Given the description of an element on the screen output the (x, y) to click on. 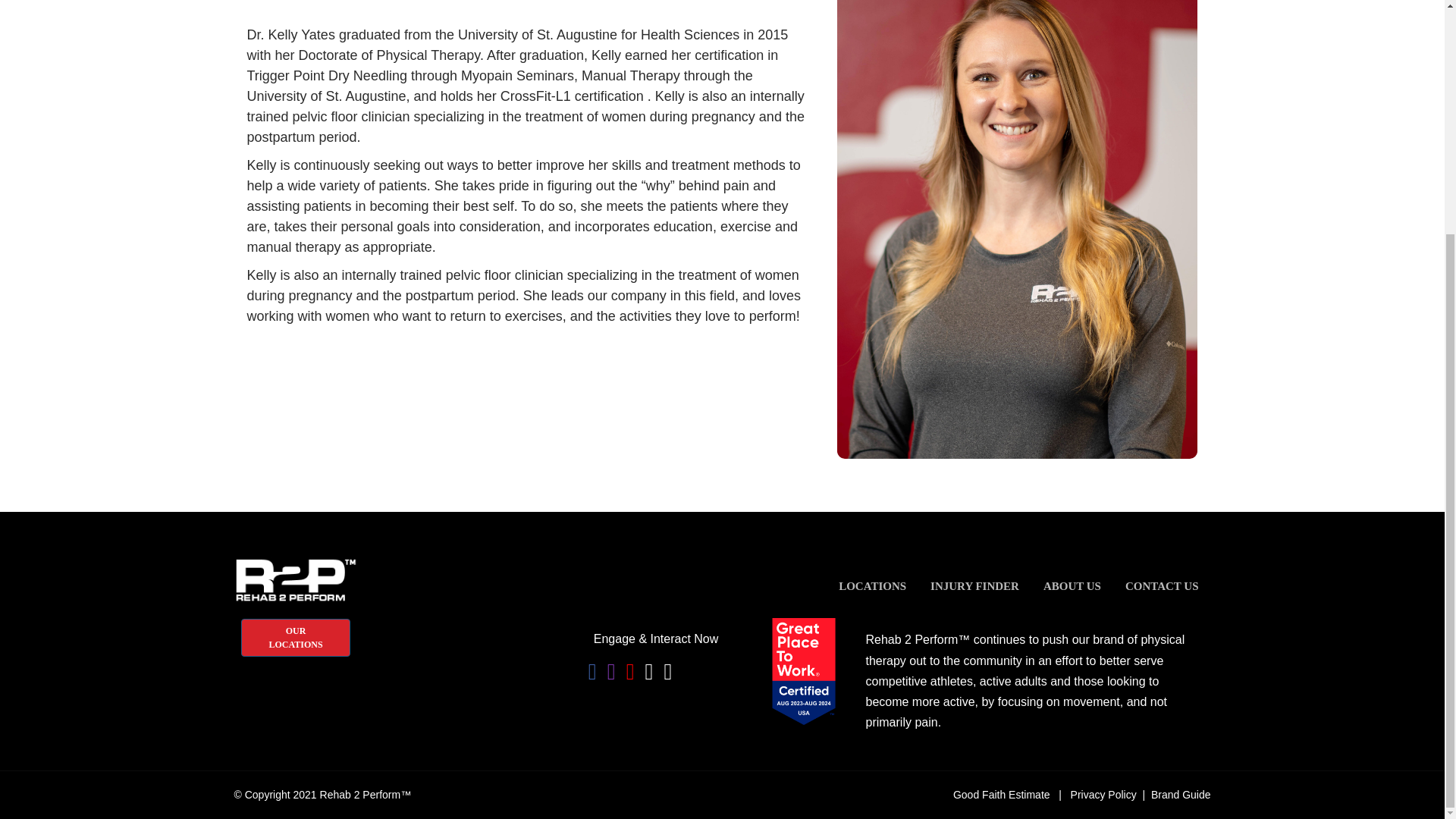
logo-22-9-21 (294, 580)
